Given the description of an element on the screen output the (x, y) to click on. 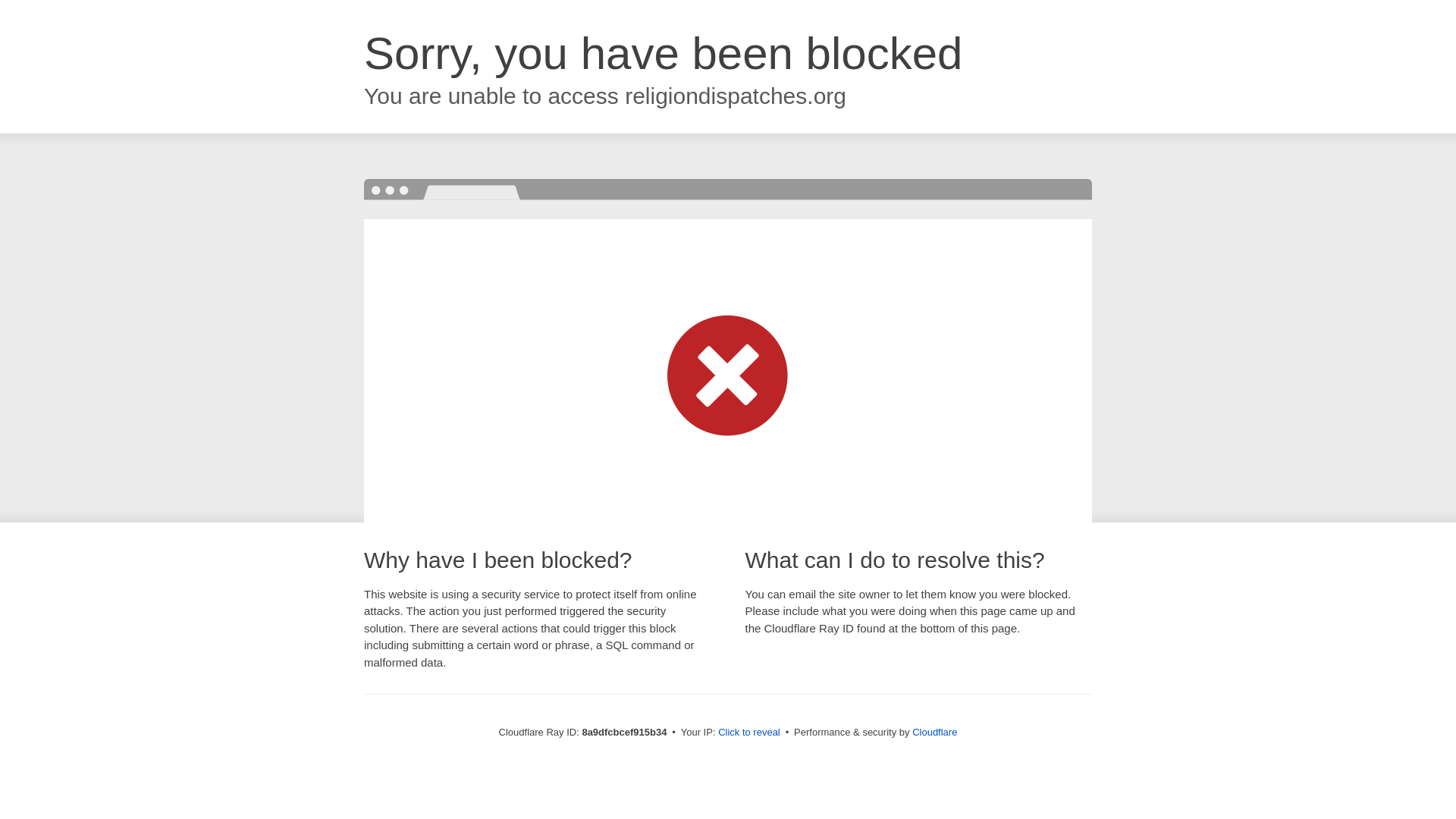
Click to reveal (748, 732)
Cloudflare (934, 731)
